Given the description of an element on the screen output the (x, y) to click on. 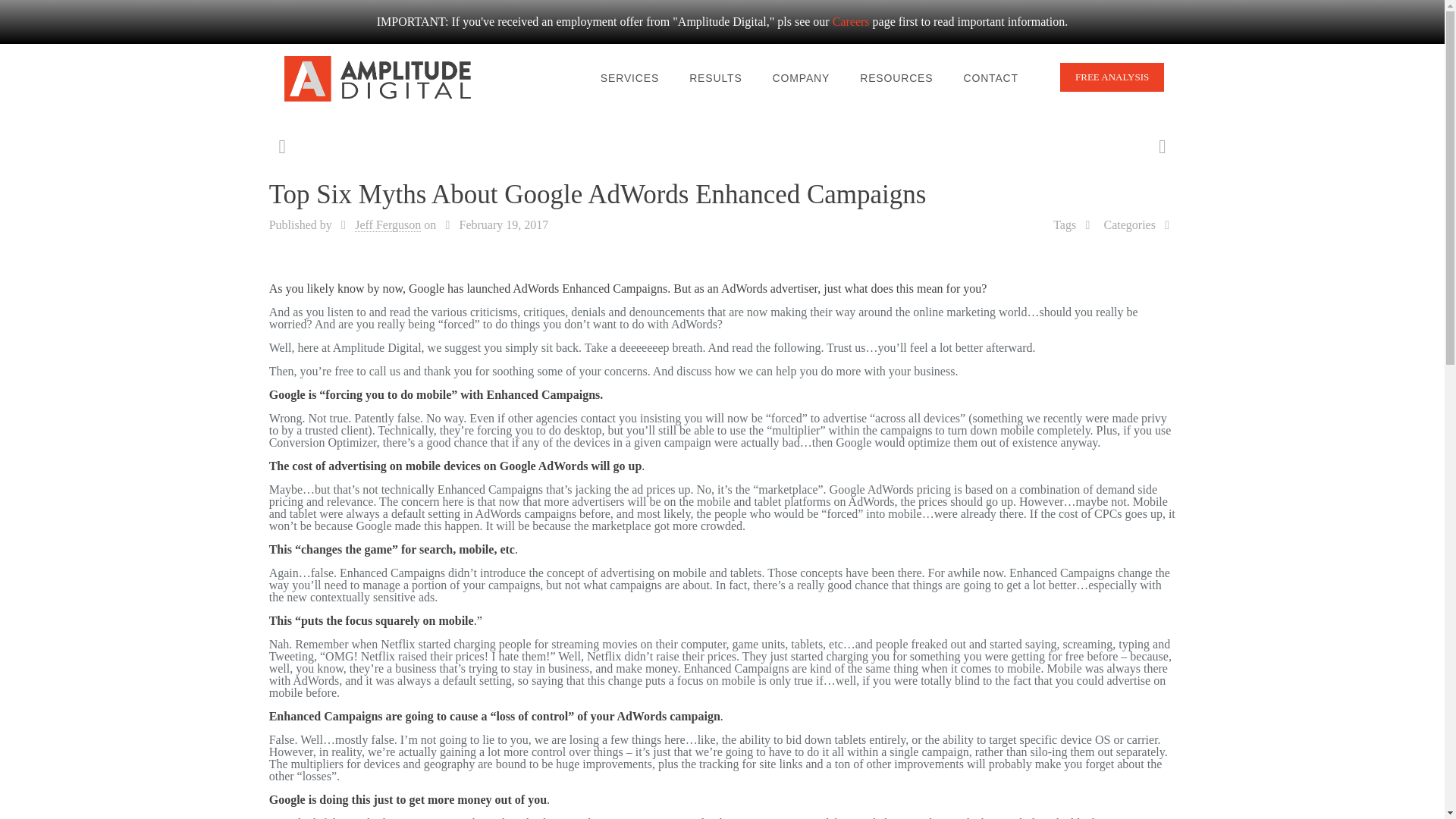
Amplitude Digital (377, 78)
CONTACT (990, 78)
SERVICES (629, 78)
Careers (850, 21)
COMPANY (801, 78)
FREE ANALYSIS (1111, 77)
RESOURCES (895, 78)
RESULTS (715, 78)
